Given the description of an element on the screen output the (x, y) to click on. 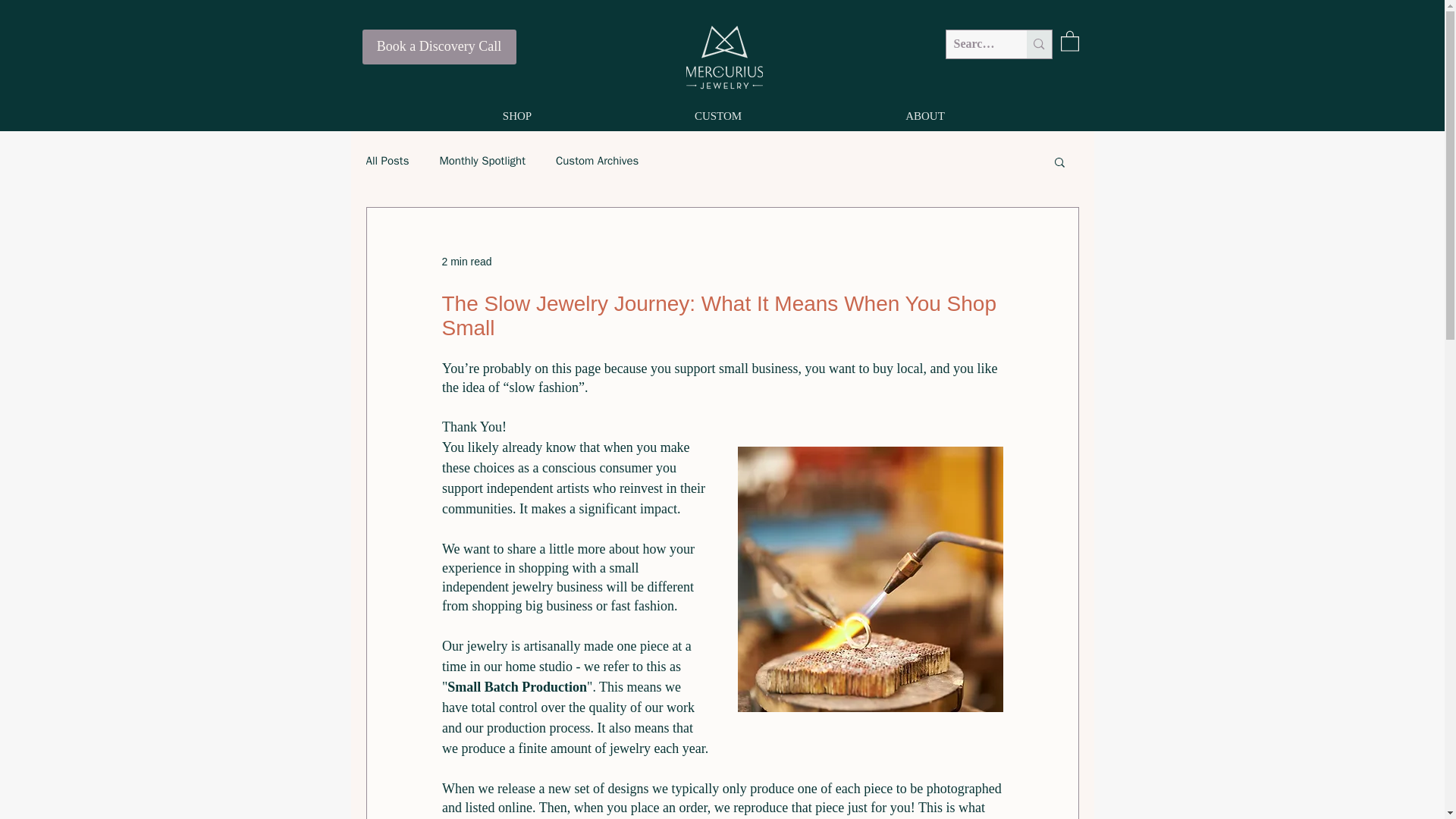
2 min read (466, 261)
Custom Archives (597, 160)
All Posts (387, 160)
Monthly Spotlight (482, 160)
Book a Discovery Call (439, 46)
